Given the description of an element on the screen output the (x, y) to click on. 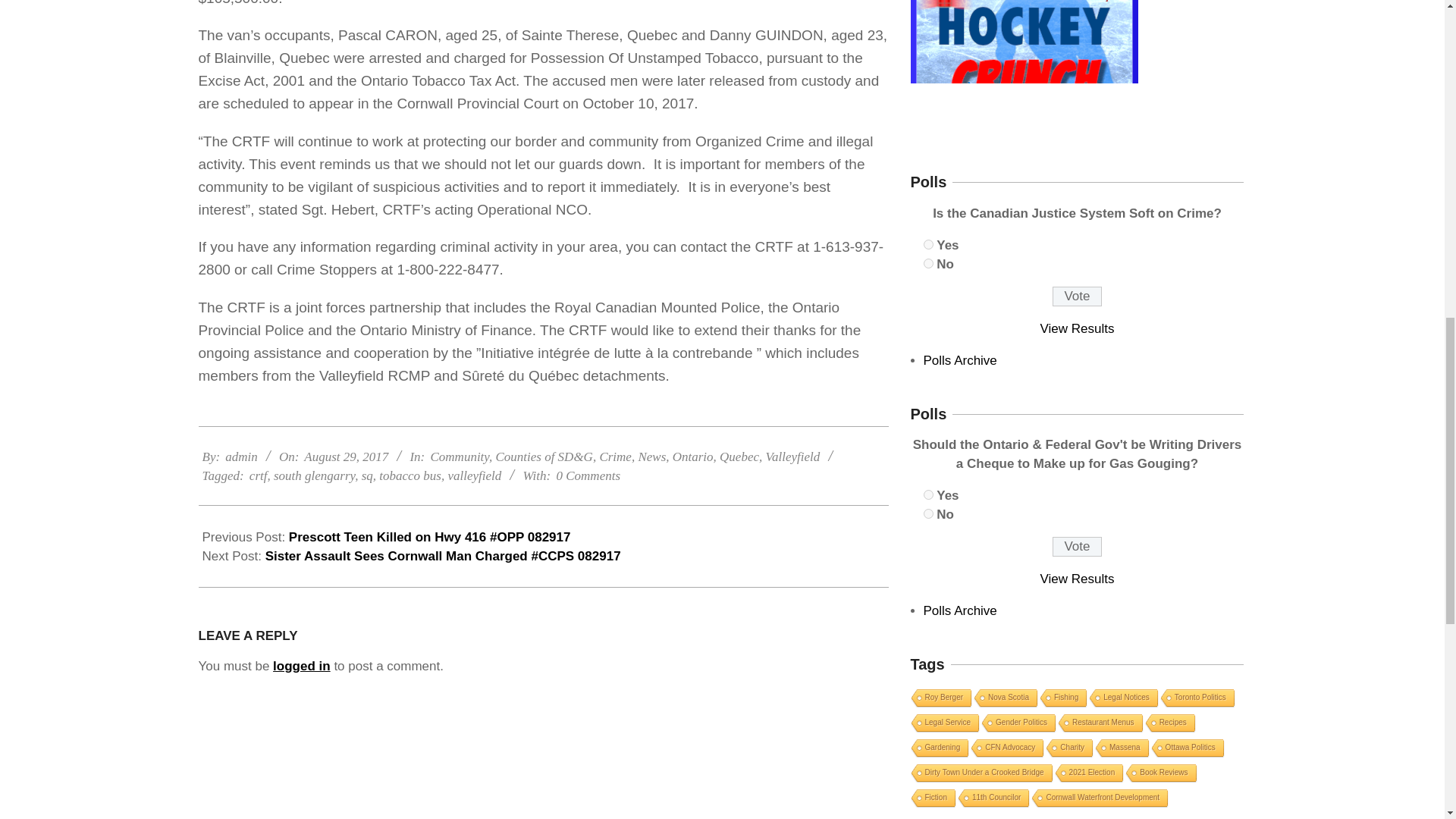
View Results Of This Poll (1078, 328)
1762 (928, 494)
1754 (928, 244)
   Vote    (1076, 546)
1763 (928, 513)
View Results Of This Poll (1078, 578)
   Vote    (1076, 296)
1755 (928, 263)
Posts by admin (241, 456)
Tuesday, August 29, 2017, 9:32 am (346, 456)
